Given the description of an element on the screen output the (x, y) to click on. 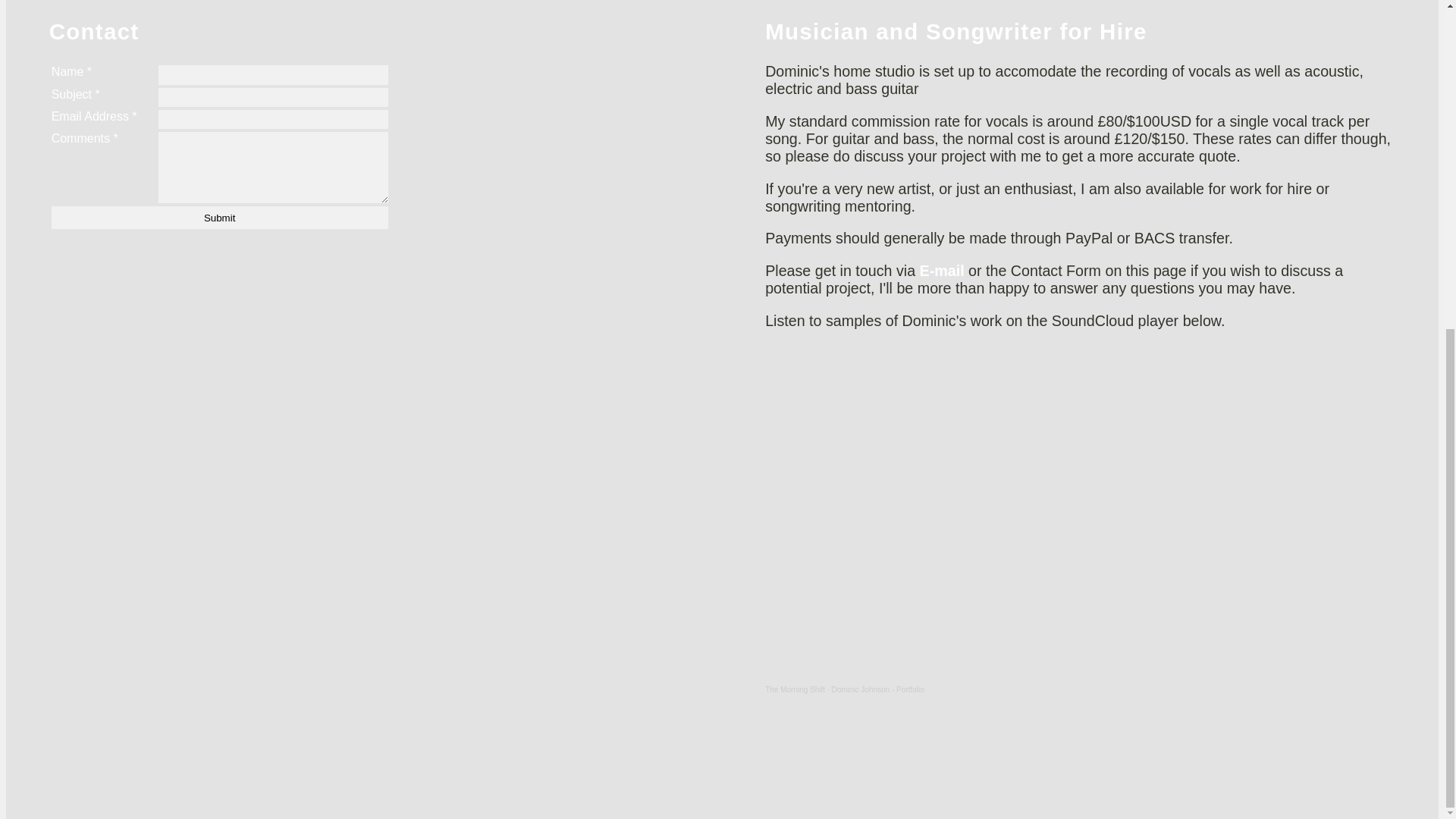
Dominic Johnson - Portfolio (877, 689)
Submit (219, 217)
Dominic Johnson - Portfolio (877, 689)
The Morning Shift (795, 689)
E-mail (941, 270)
The Morning Shift (795, 689)
Submit (219, 217)
